Given the description of an element on the screen output the (x, y) to click on. 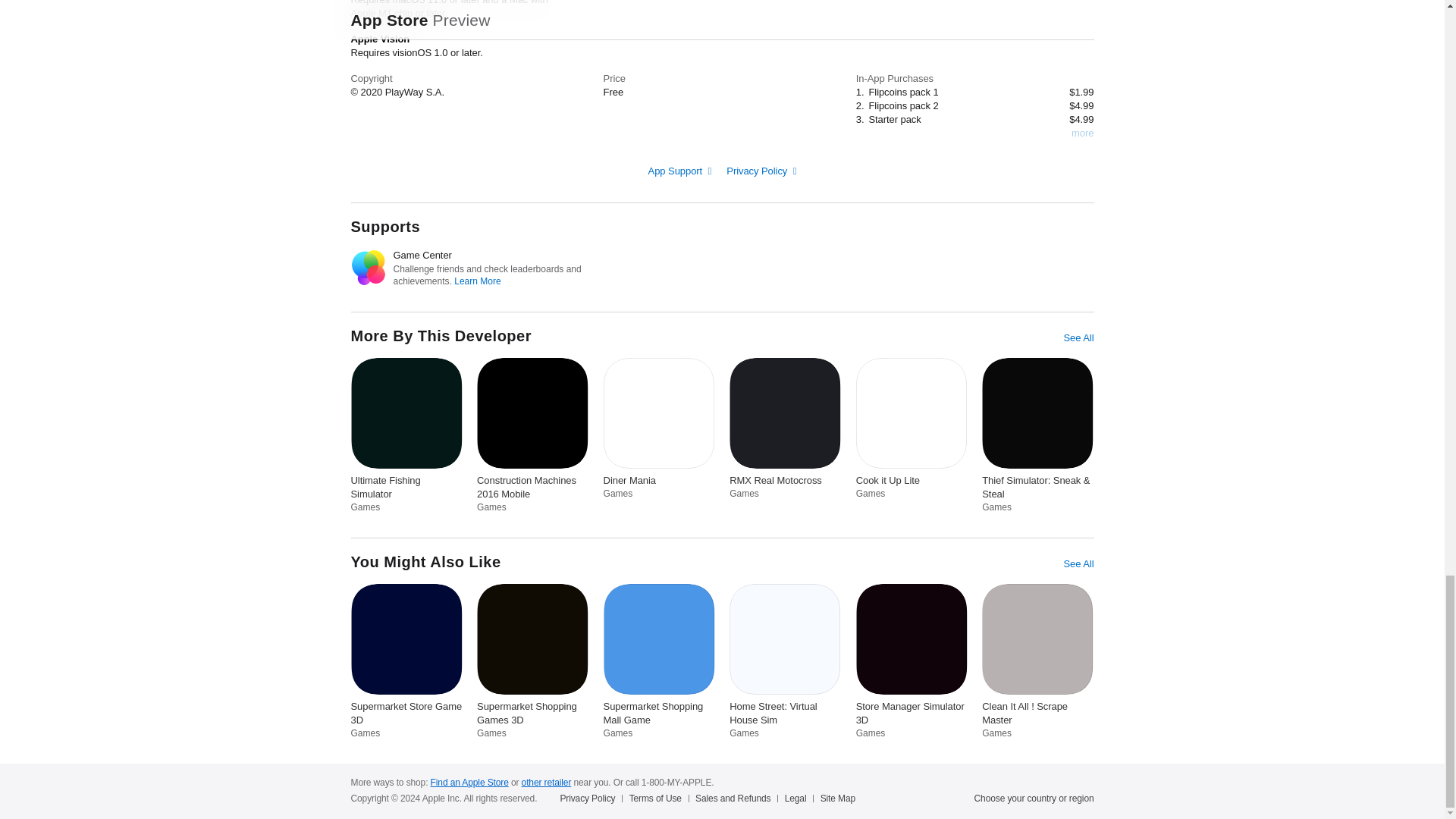
Choose your country or region (1034, 798)
Privacy Policy (761, 170)
more (1082, 133)
App Support (679, 170)
